Given the description of an element on the screen output the (x, y) to click on. 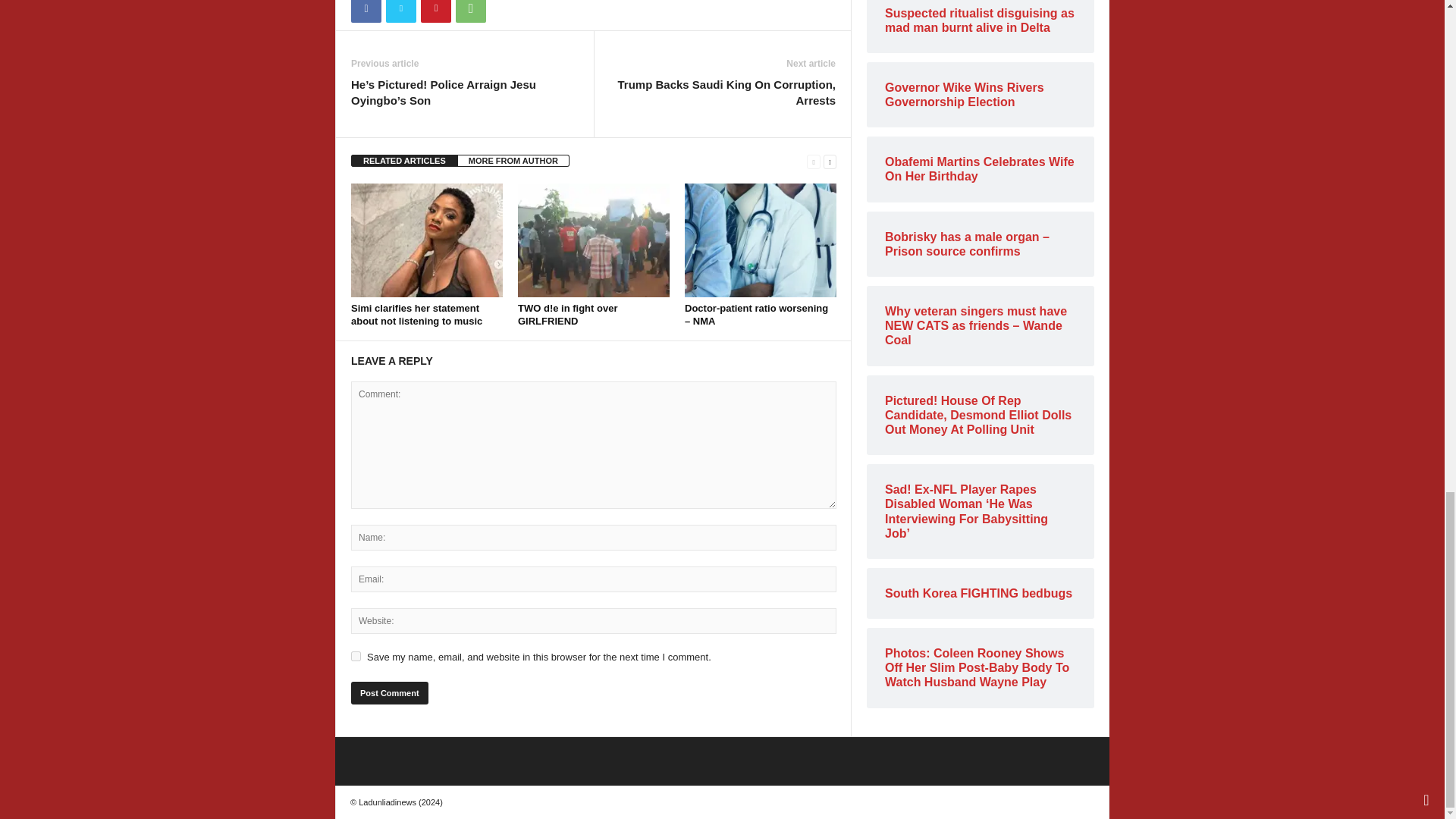
WhatsApp (470, 11)
yes (355, 655)
Twitter (400, 11)
Facebook (365, 11)
Post Comment (389, 692)
Pinterest (435, 11)
